Given the description of an element on the screen output the (x, y) to click on. 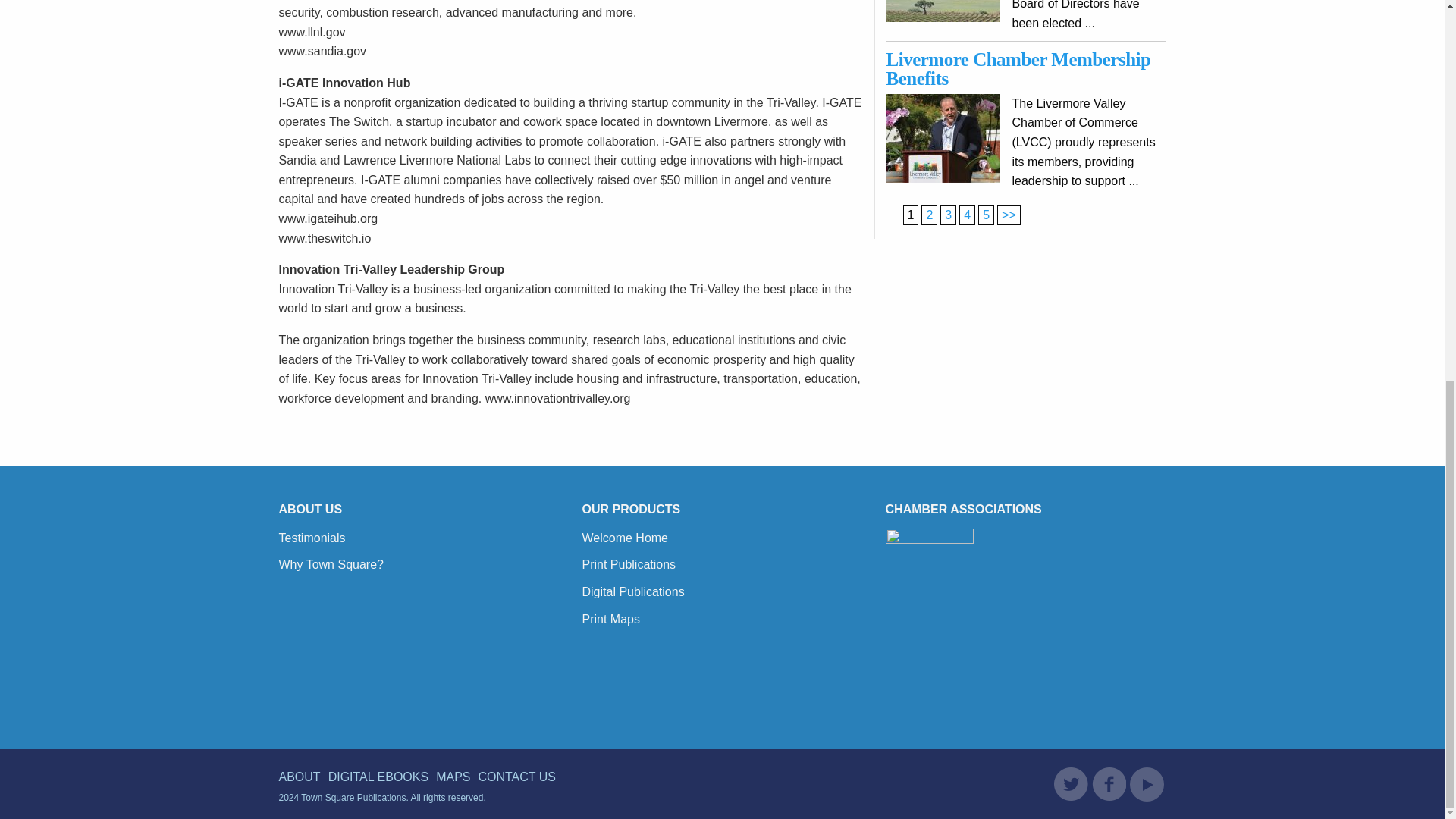
Testimonials (312, 537)
2 (1008, 214)
Why Town Square? (331, 563)
Welcome Home (624, 537)
Livermore Chamber Membership Benefits (1018, 68)
